Given the description of an element on the screen output the (x, y) to click on. 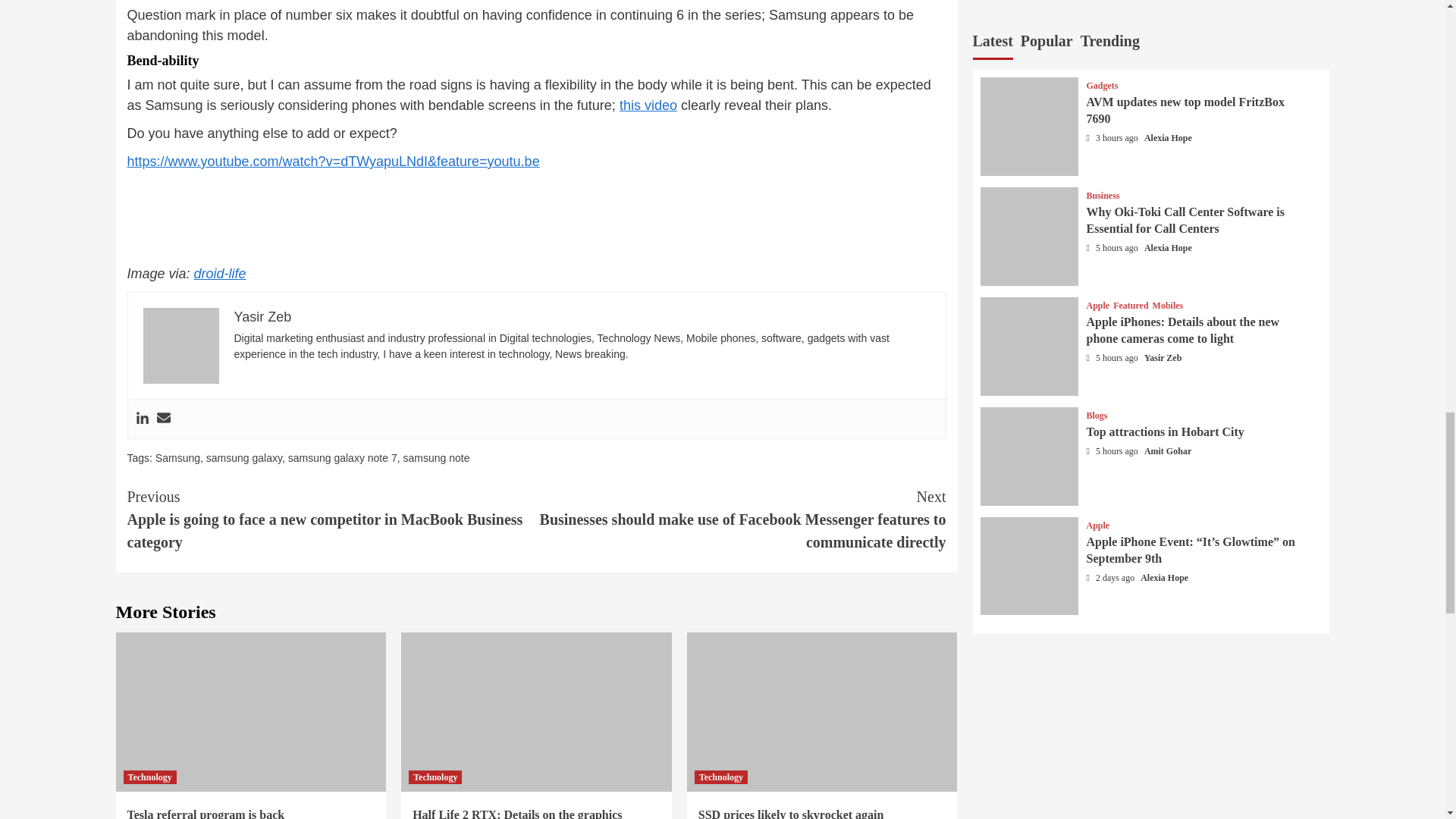
this video (648, 105)
droid-life (219, 273)
Yasir Zeb (261, 316)
samsung galaxy (244, 458)
samsung galaxy note 7 (342, 458)
Samsung (177, 458)
